Given the description of an element on the screen output the (x, y) to click on. 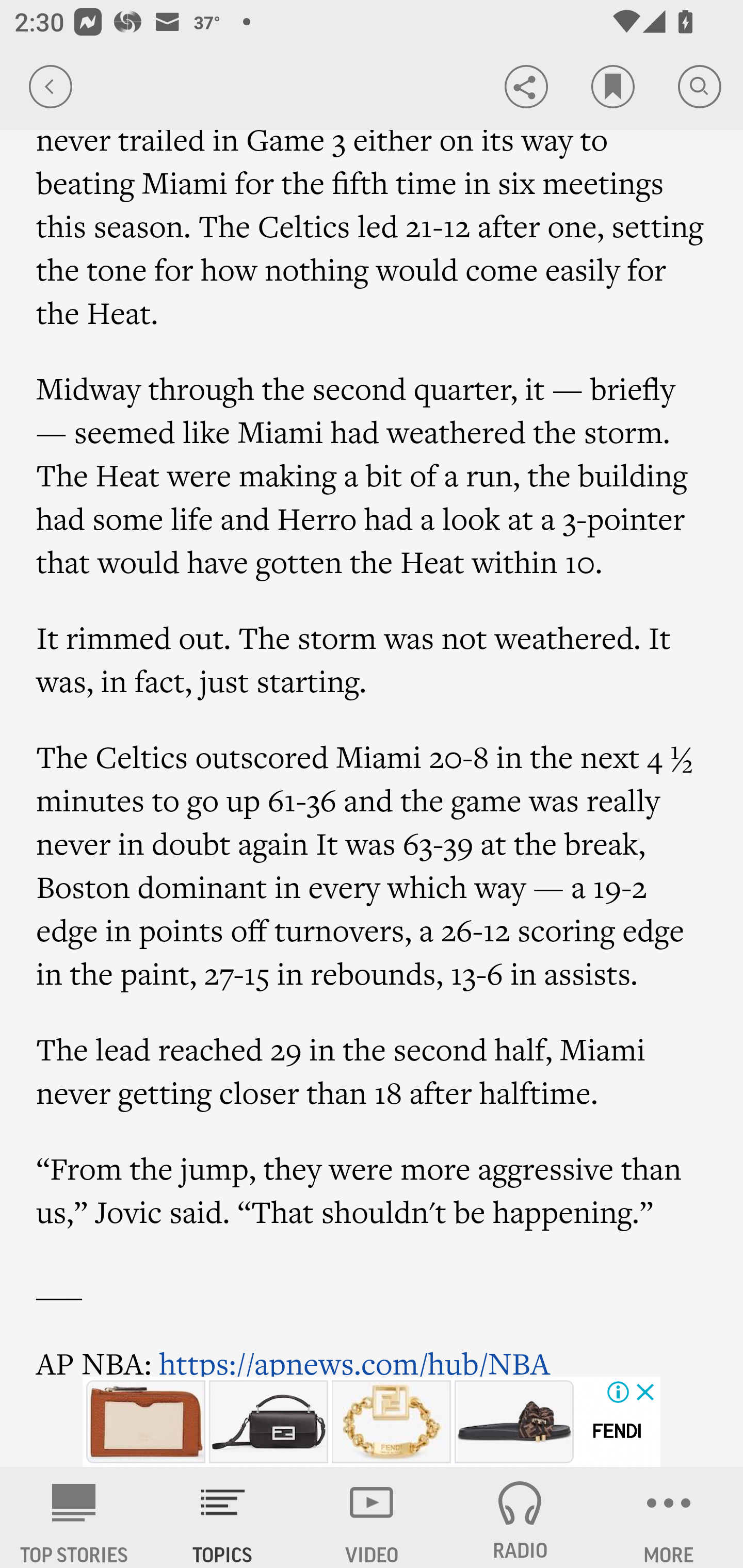
https://apnews.com/hub/NBA (354, 1359)
fendi-feel-brown-satin-slides-8x8142ae7sf0r7v (513, 1420)
AP News TOP STORIES (74, 1517)
TOPICS (222, 1517)
VIDEO (371, 1517)
RADIO (519, 1517)
MORE (668, 1517)
